Given the description of an element on the screen output the (x, y) to click on. 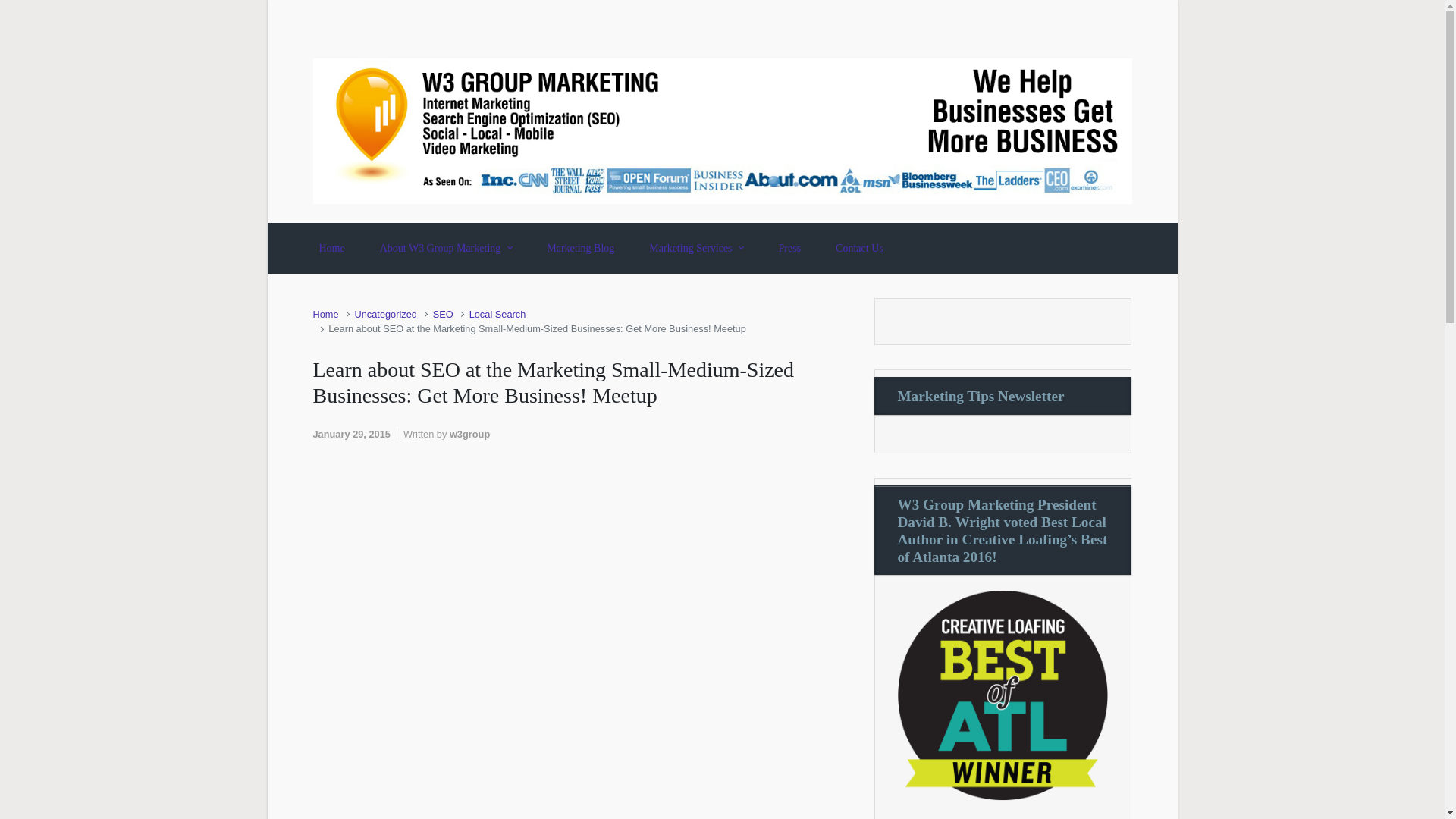
w3group (469, 433)
Marketing Services (696, 248)
Uncategorized (384, 314)
About W3 Group Marketing (446, 248)
SEO (442, 314)
Home (331, 248)
SEO (442, 314)
Marketing Blog (580, 248)
Home (325, 314)
Contact Us (859, 248)
